Given the description of an element on the screen output the (x, y) to click on. 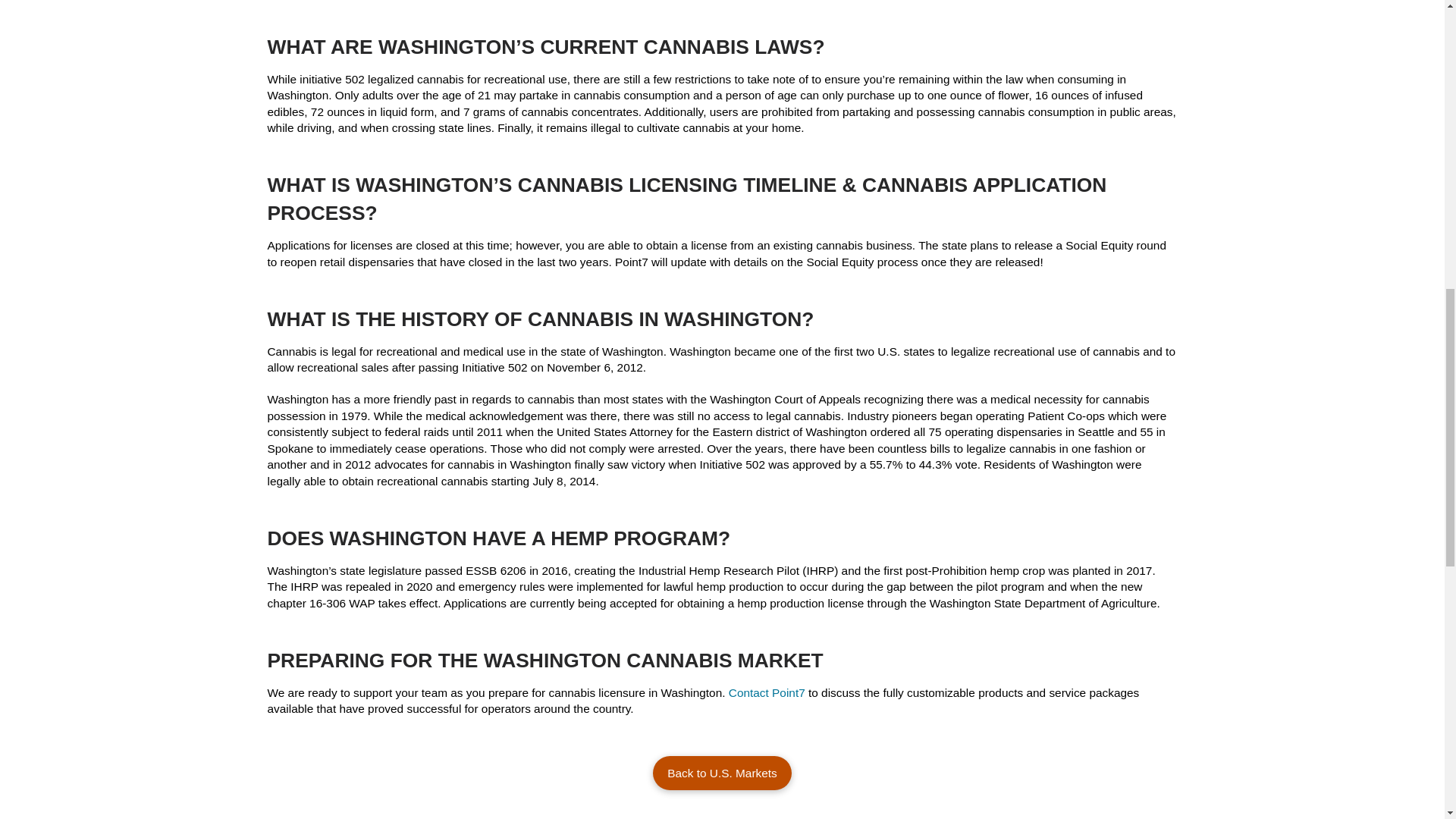
Back to U.S. Markets (722, 772)
Contact Point7 (767, 692)
